Given the description of an element on the screen output the (x, y) to click on. 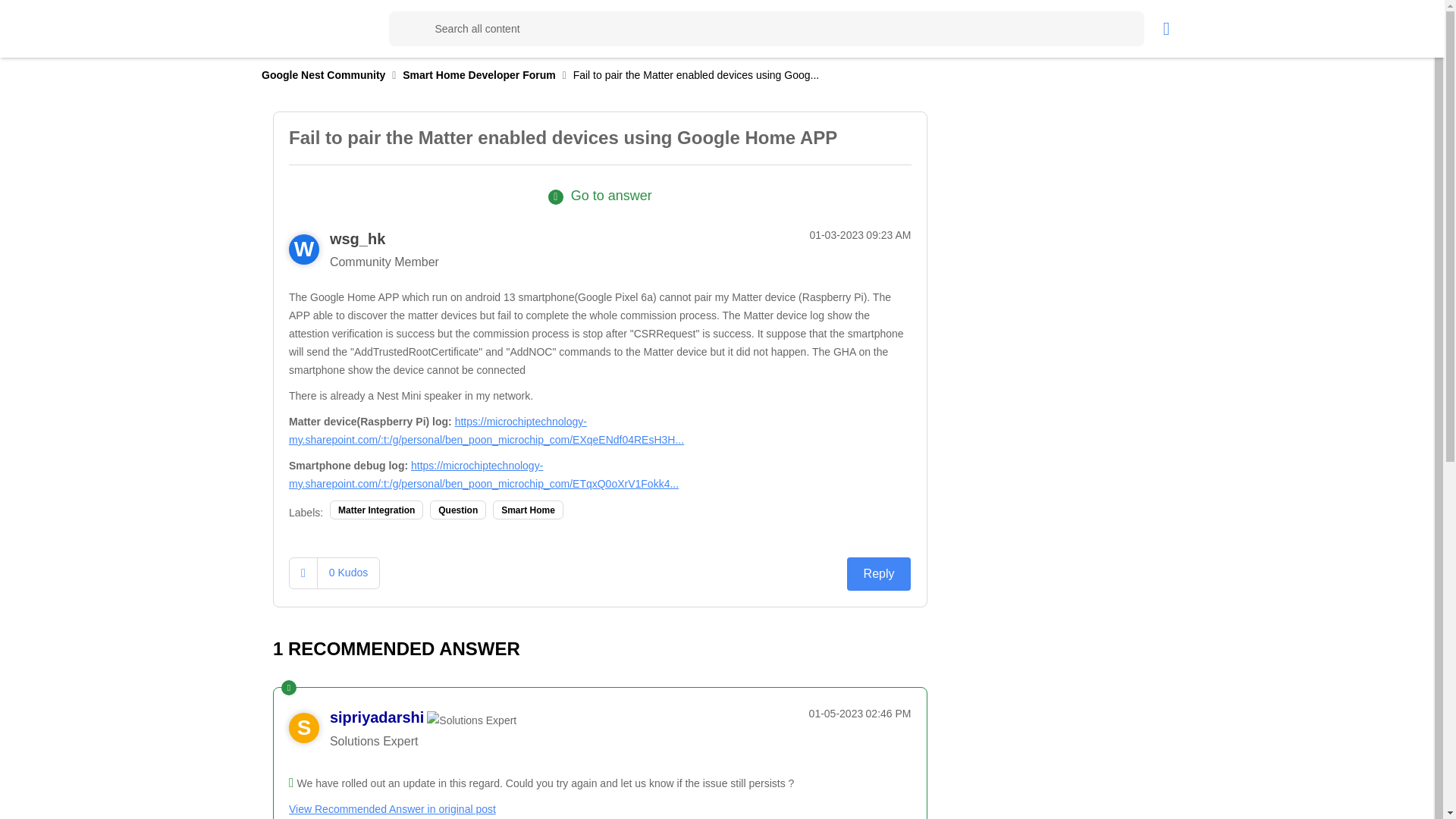
Click here to give kudos to this post. (303, 572)
Search (405, 29)
Question (457, 509)
Solutions Expert (471, 720)
Go to answer (600, 195)
Google Nest Community (323, 74)
Google Nest Community (342, 28)
Search (765, 28)
The total number of kudos this post has received. (347, 572)
Matter Integration (376, 509)
